Given the description of an element on the screen output the (x, y) to click on. 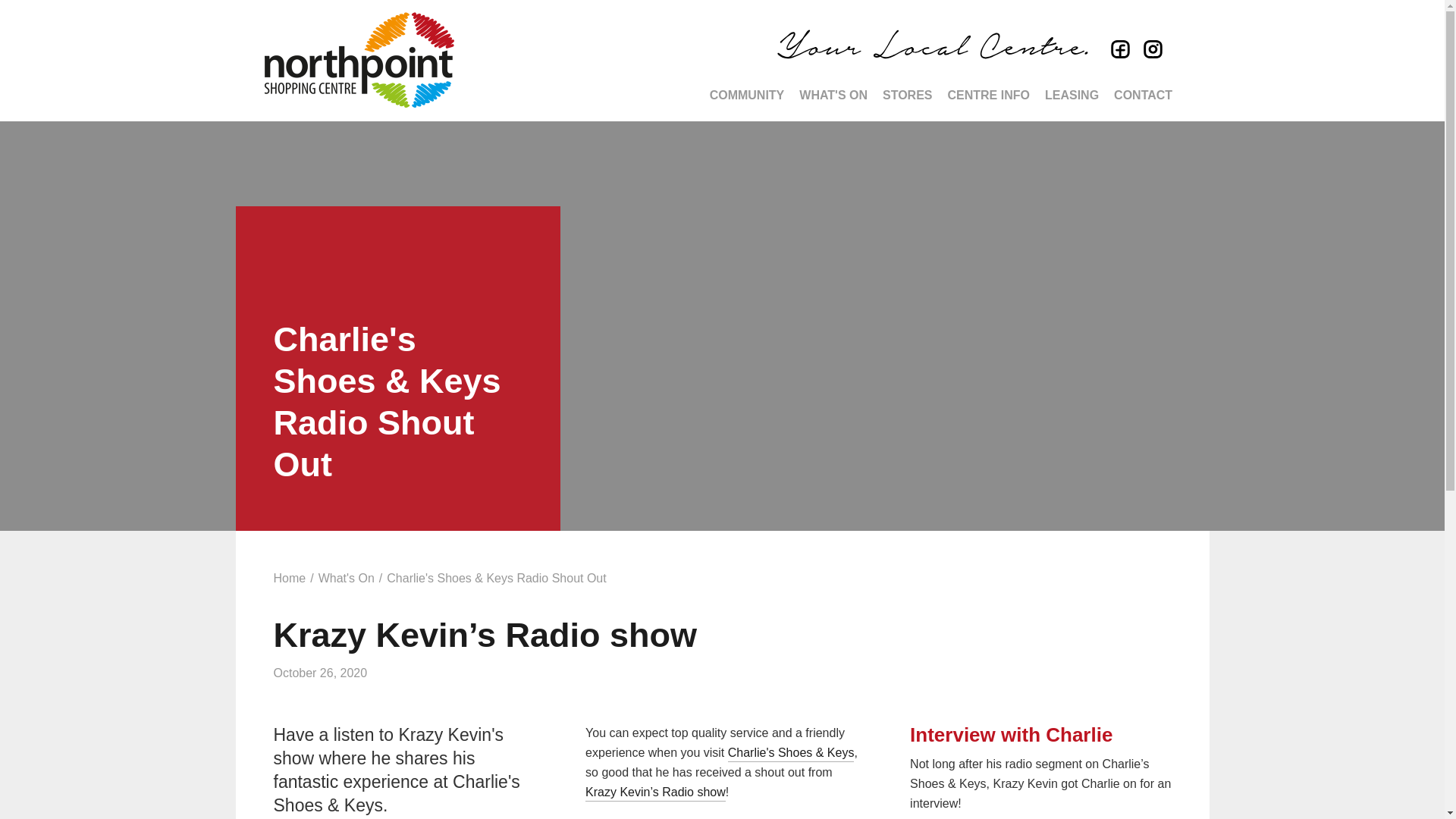
Charlie's Shoes & Keys Radio Shout Out Element type: text (495, 579)
Home Element type: text (289, 579)
CENTRE INFO Element type: text (988, 95)
CONTACT Element type: text (1142, 95)
visit us on Facebook Element type: hover (1117, 50)
LEASING Element type: text (1071, 95)
What's On Element type: text (346, 579)
WHAT'S ON Element type: text (833, 95)
STORES Element type: text (907, 95)
Charlie's Shoes & Keys Element type: text (791, 754)
COMMUNITY Element type: text (747, 95)
